Given the description of an element on the screen output the (x, y) to click on. 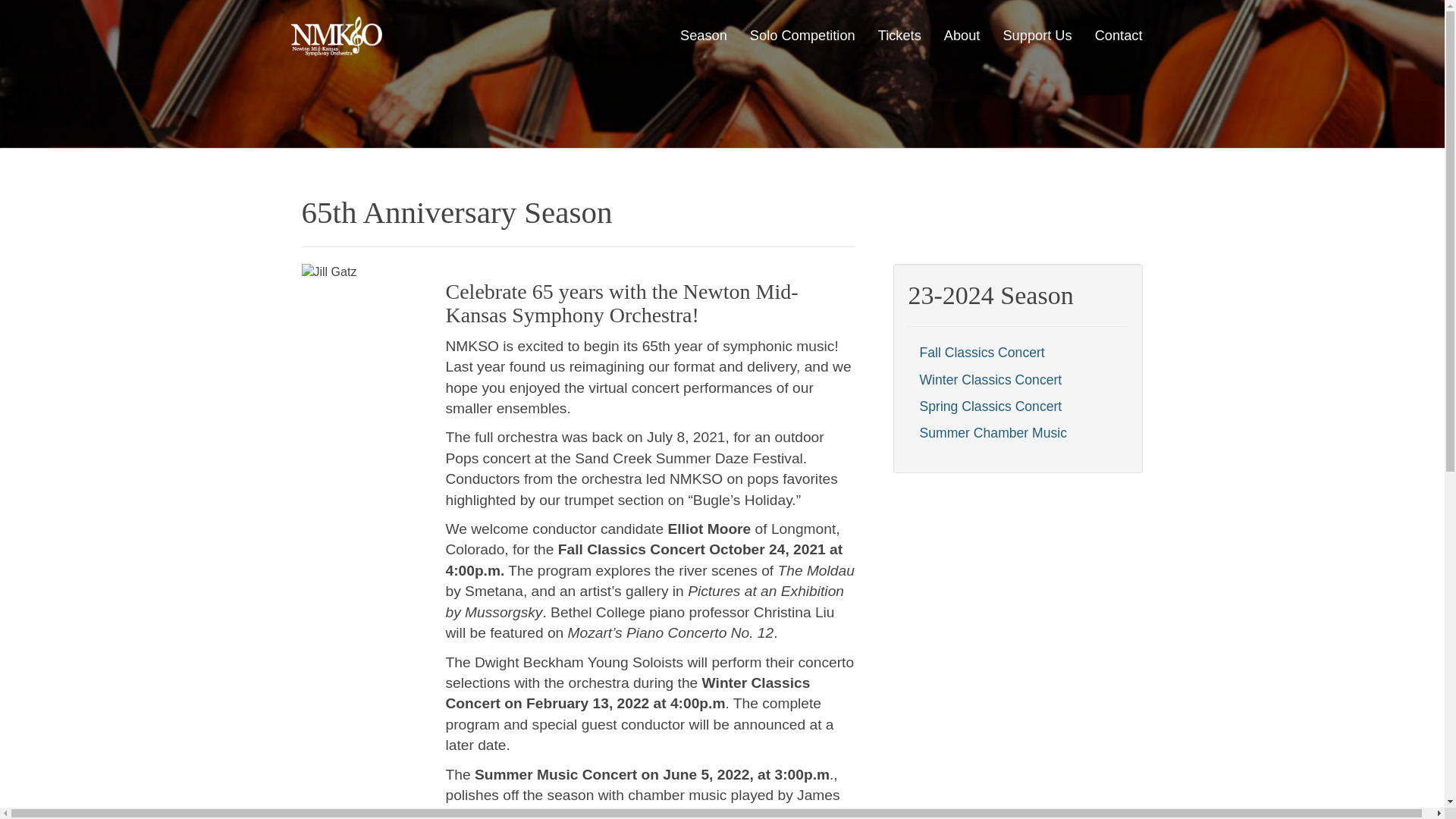
Solo Competition (802, 36)
Spring Classics Concert (989, 406)
Support Us (1037, 36)
Summer Chamber Music (992, 432)
Support Us (1037, 36)
About (961, 36)
Season (702, 36)
Contact (1118, 36)
Season (702, 36)
Fall Classics Concert (980, 352)
Solo Competition (802, 36)
Contact (1118, 36)
About (961, 36)
Tickets (899, 36)
Winter Classics Concert (989, 379)
